Given the description of an element on the screen output the (x, y) to click on. 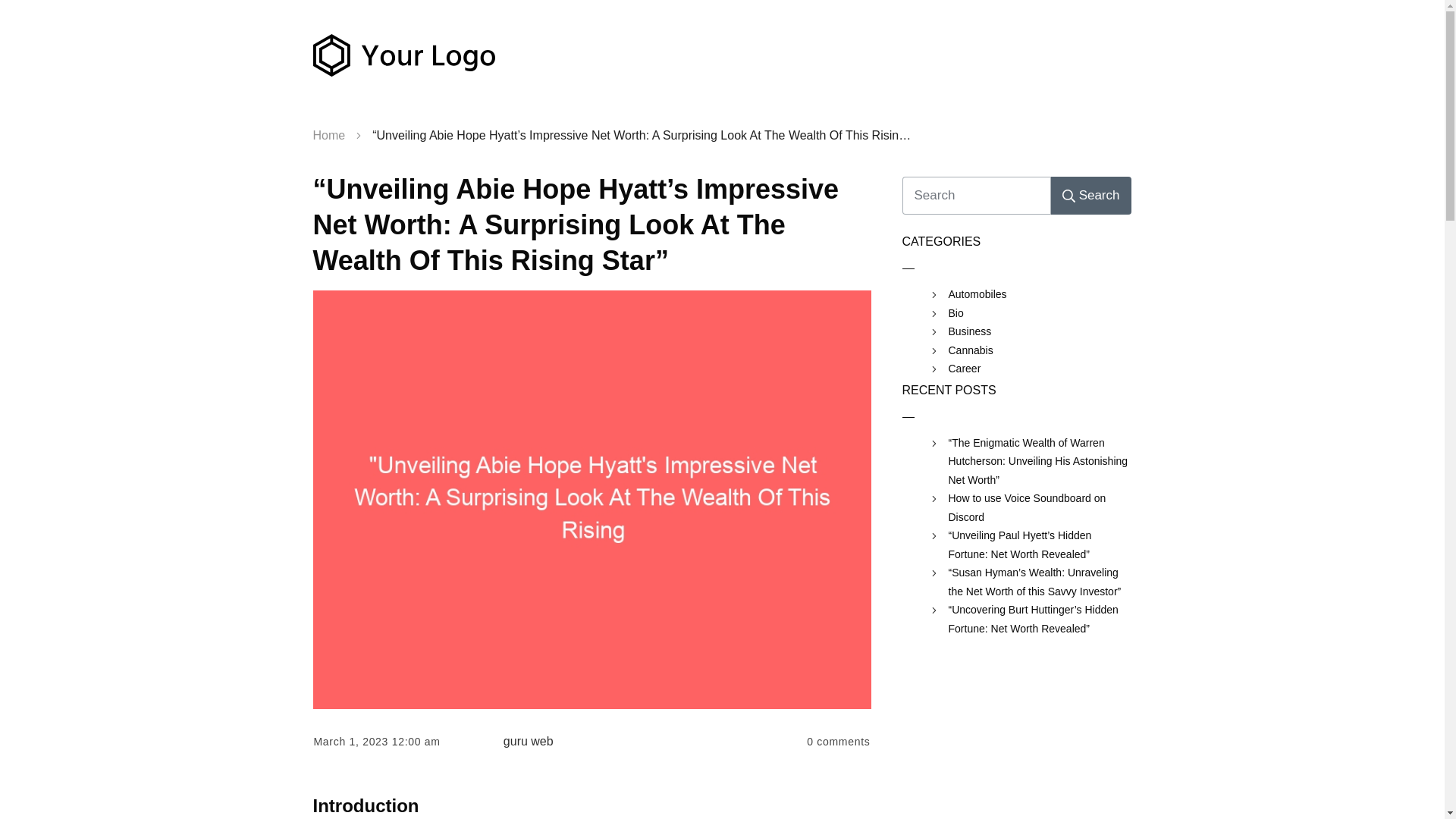
How to use Voice Soundboard on Discord (1039, 507)
Cannabis (969, 350)
Search (1091, 195)
Home (329, 135)
Business (969, 331)
Automobiles (976, 294)
Career (963, 368)
